Given the description of an element on the screen output the (x, y) to click on. 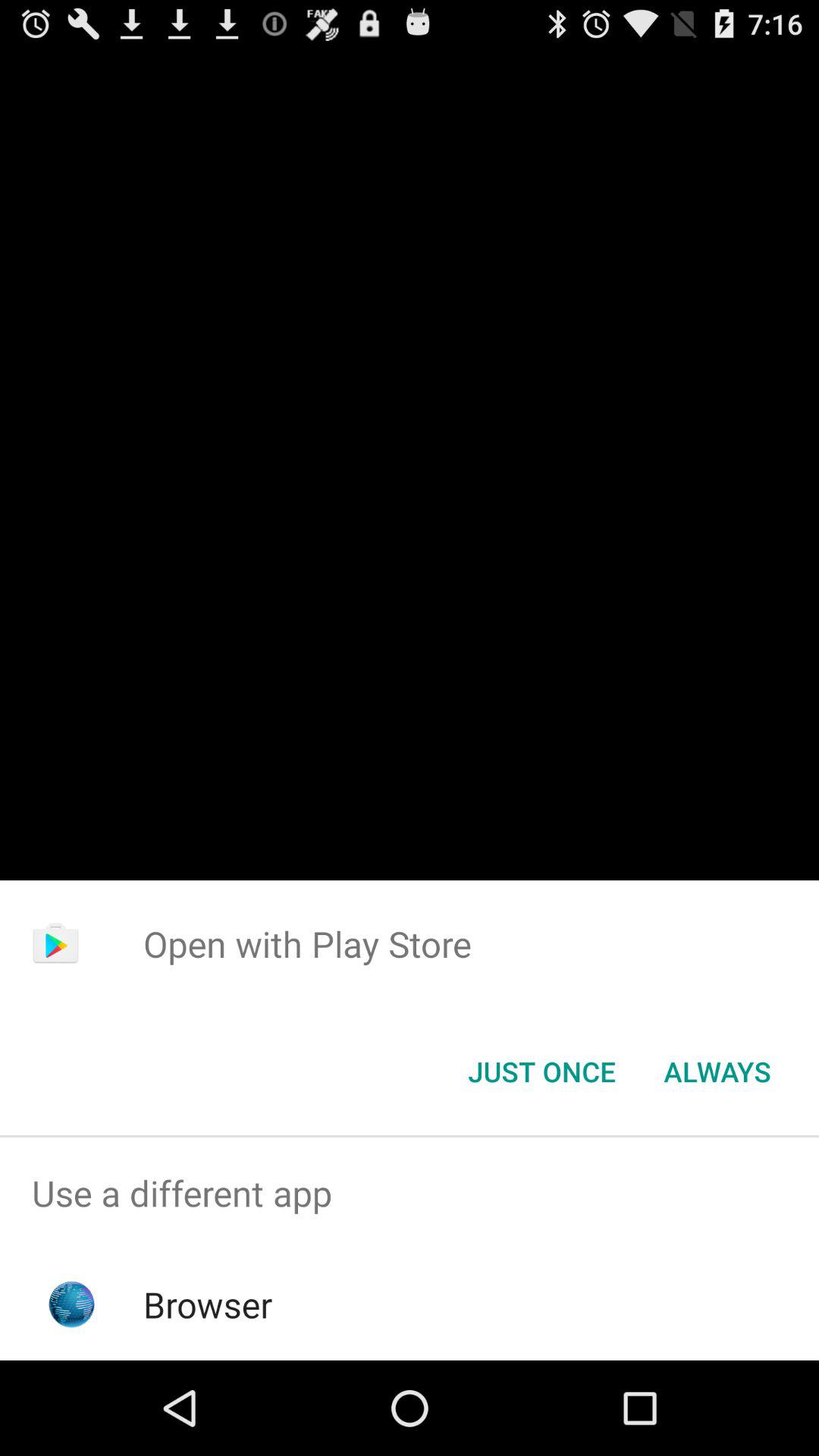
choose button to the right of just once (717, 1071)
